Given the description of an element on the screen output the (x, y) to click on. 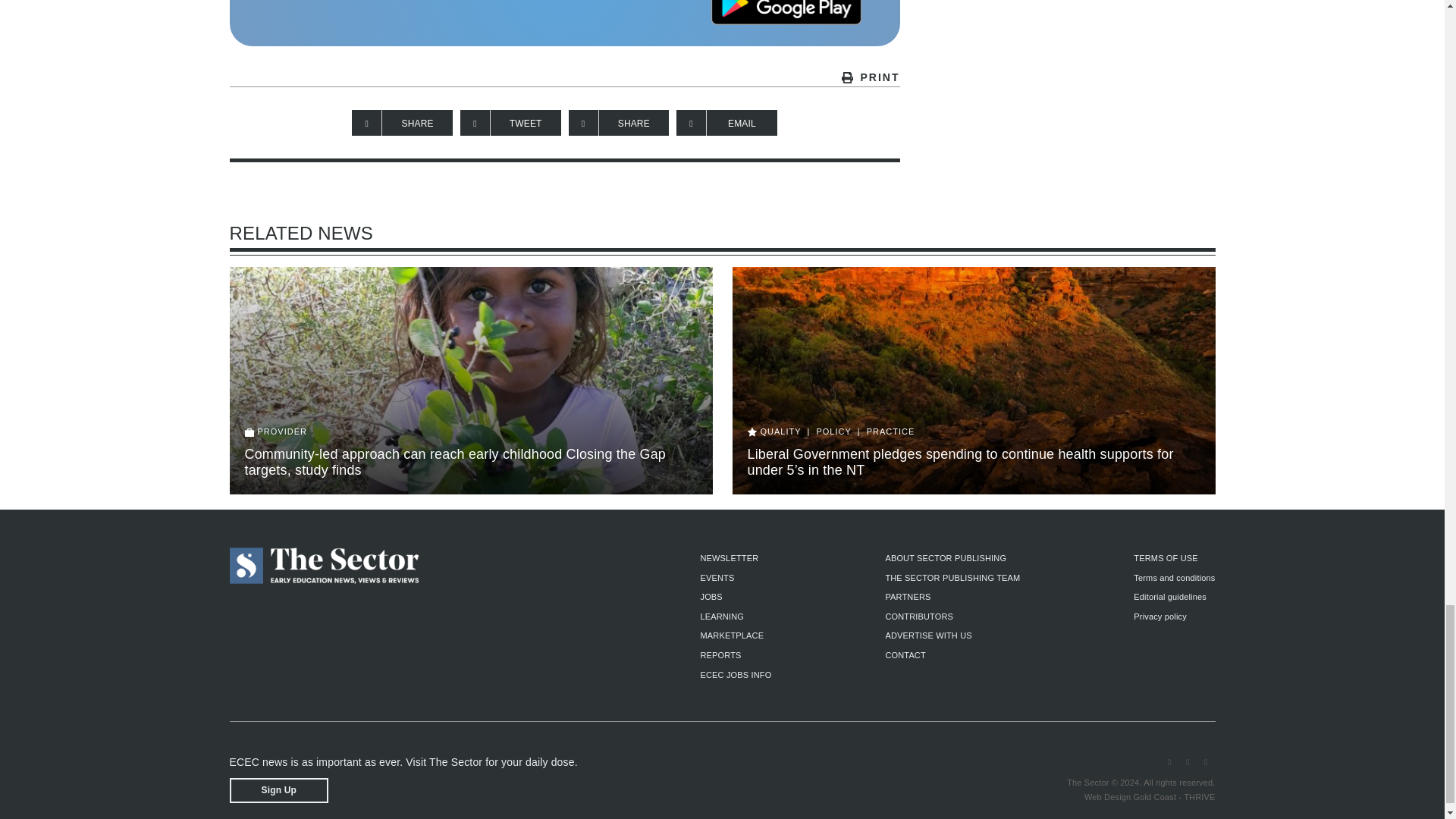
Share on LinkedIn (619, 122)
Share on Email (727, 122)
Tweet (510, 122)
Share on Facebook (402, 122)
Web Design Gold Coast (1130, 796)
